Given the description of an element on the screen output the (x, y) to click on. 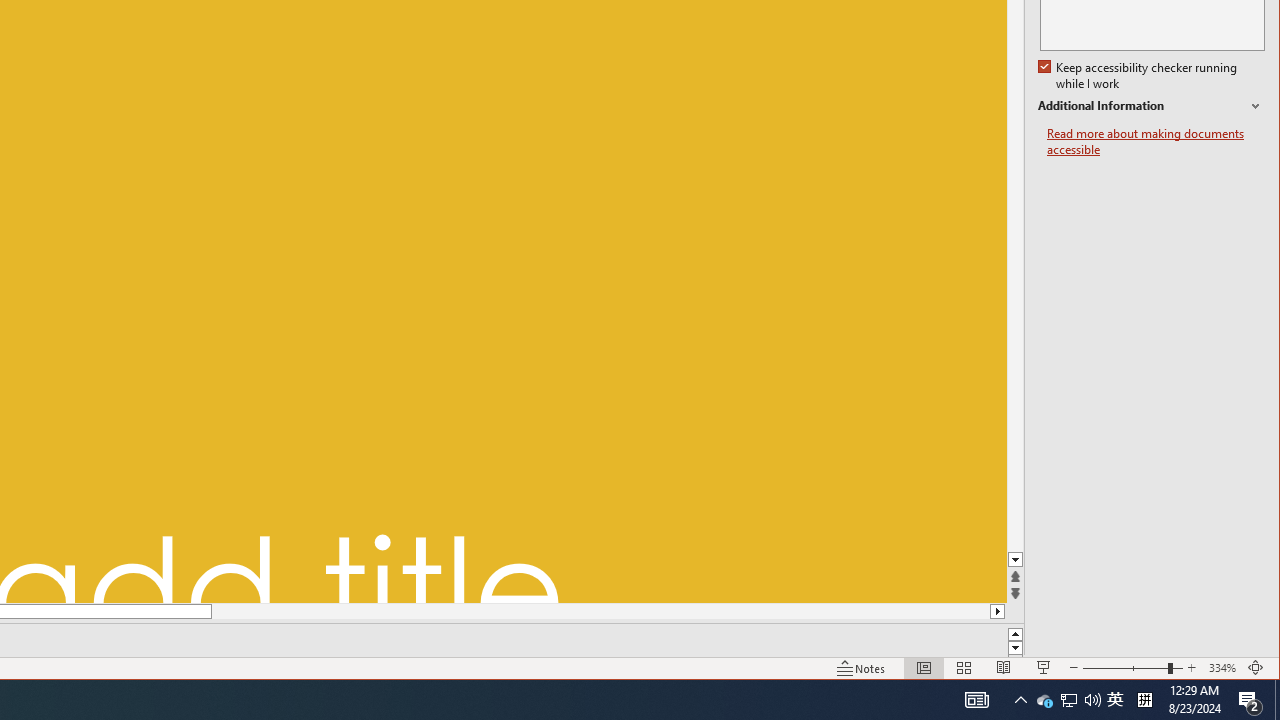
Zoom to Fit  (1256, 668)
Normal (923, 668)
Page down (1069, 699)
Additional Information (1015, 342)
Show desktop (1151, 106)
AutomationID: 4105 (1277, 699)
Zoom 334% (976, 699)
Notification Chevron (1222, 668)
Notes  (1020, 699)
Q2790: 100% (861, 668)
Zoom (1092, 699)
Read more about making documents accessible (1132, 668)
Slide Sorter (1155, 142)
